Given the description of an element on the screen output the (x, y) to click on. 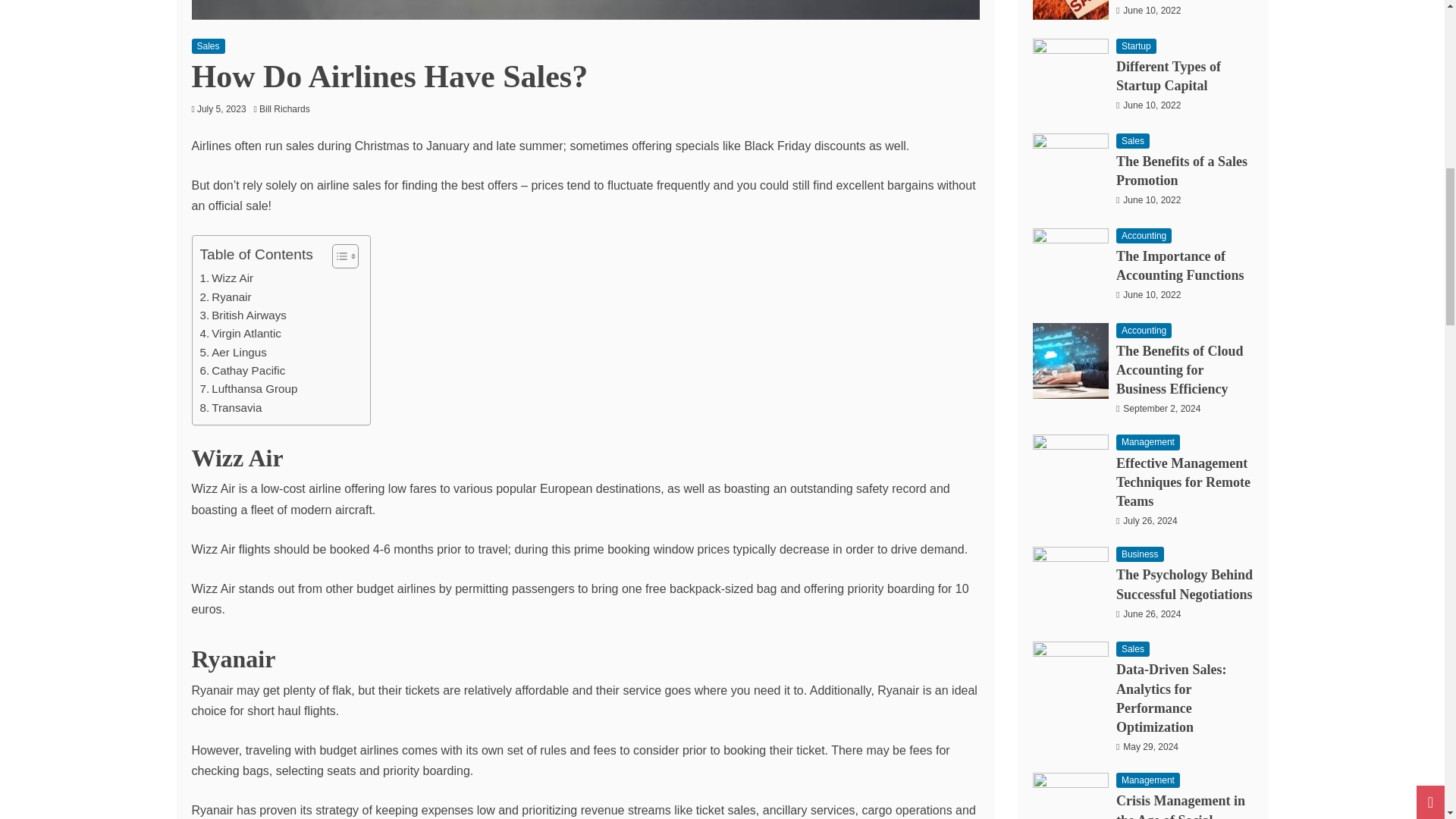
Transavia (231, 407)
Lufthansa Group (249, 389)
Wizz Air (226, 278)
British Airways (243, 315)
July 5, 2023 (221, 109)
Transavia (231, 407)
Wizz Air (226, 278)
Virgin Atlantic (240, 333)
Cathay Pacific (242, 370)
Sales (207, 46)
